Given the description of an element on the screen output the (x, y) to click on. 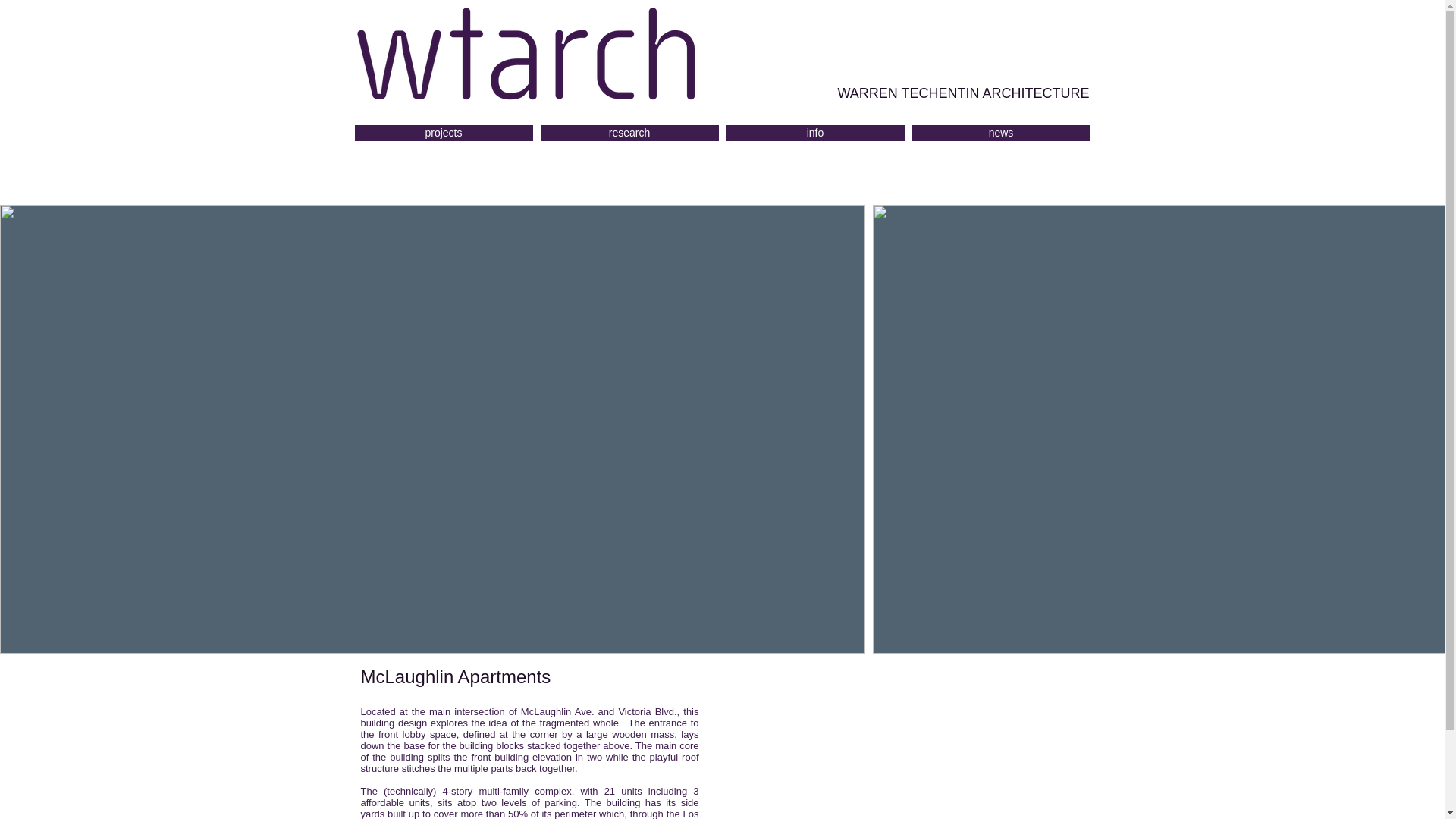
news (1000, 132)
projects (443, 132)
research (628, 132)
